Given the description of an element on the screen output the (x, y) to click on. 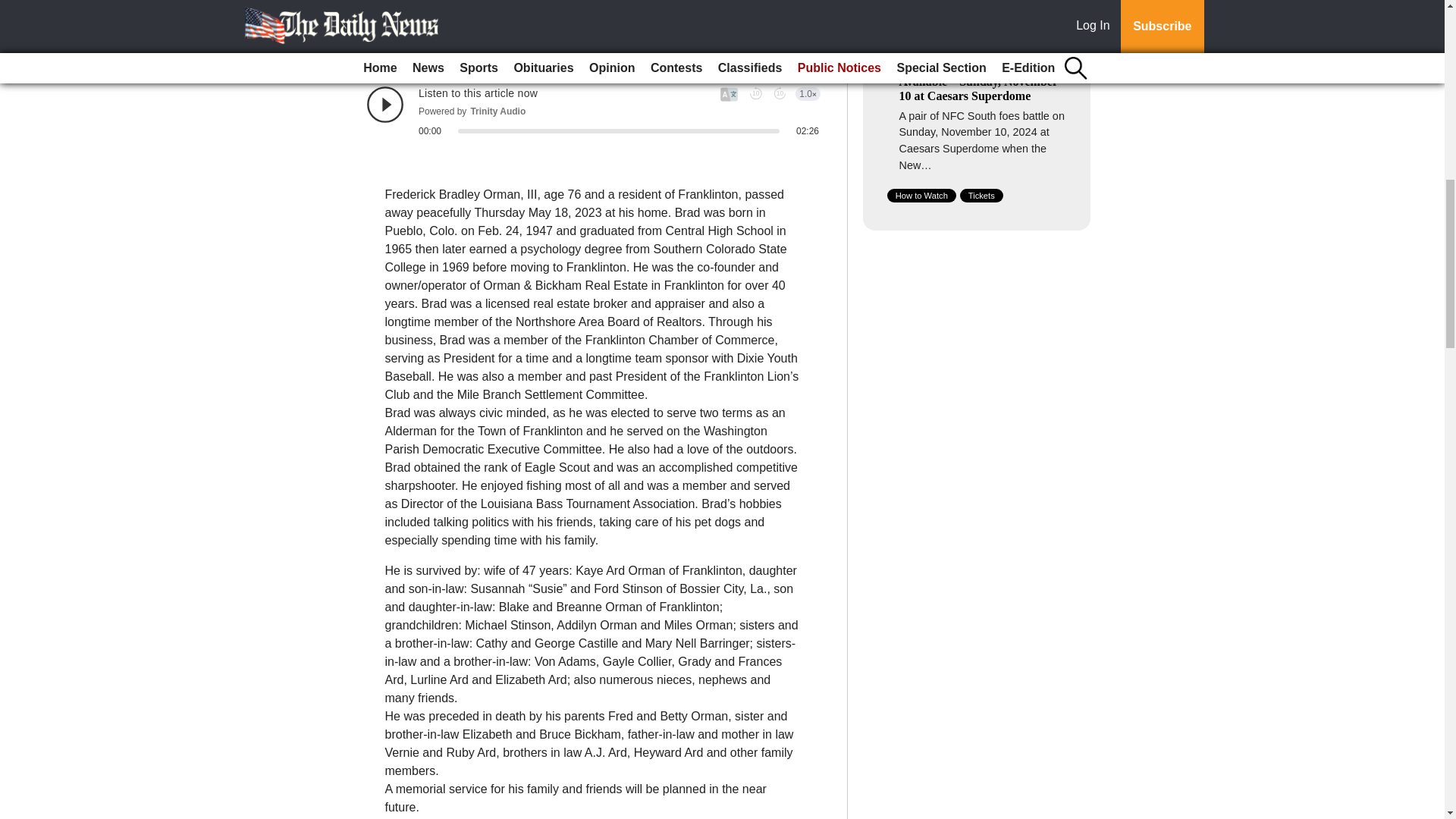
Tickets (981, 195)
Trinity Audio Player (592, 111)
How to Watch (921, 195)
